Given the description of an element on the screen output the (x, y) to click on. 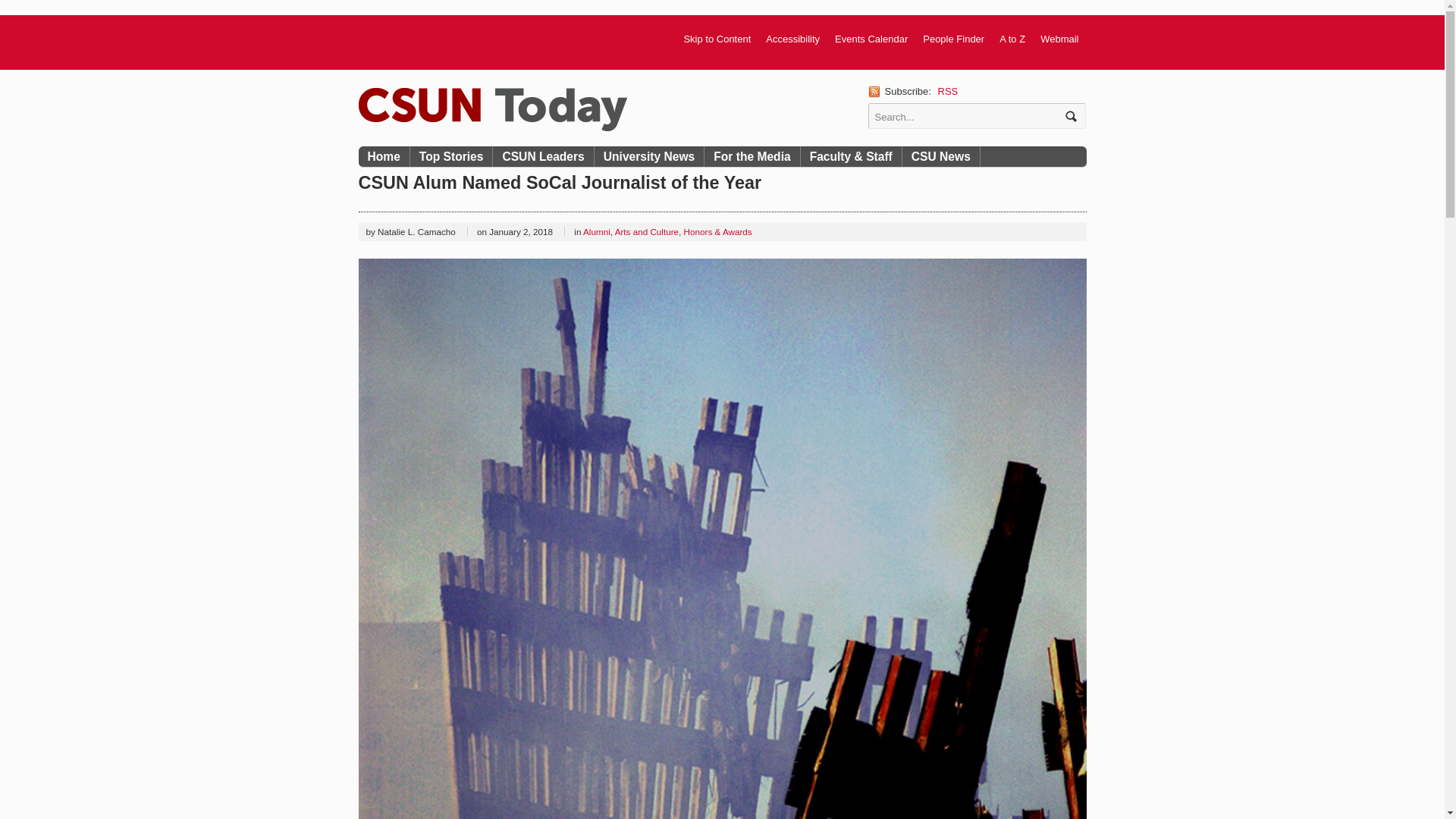
California State University, Northridge (492, 109)
University News (649, 155)
Alumni (596, 231)
Accessibility (792, 39)
Webmail (1059, 39)
For the Media (751, 155)
Arts and Culture (646, 231)
Skip to Content (716, 39)
Search... (966, 115)
CSU News (940, 155)
People Finder (953, 39)
Events Calendar (871, 39)
Home (383, 155)
CSUN Leaders (543, 155)
Top Stories (451, 155)
